Given the description of an element on the screen output the (x, y) to click on. 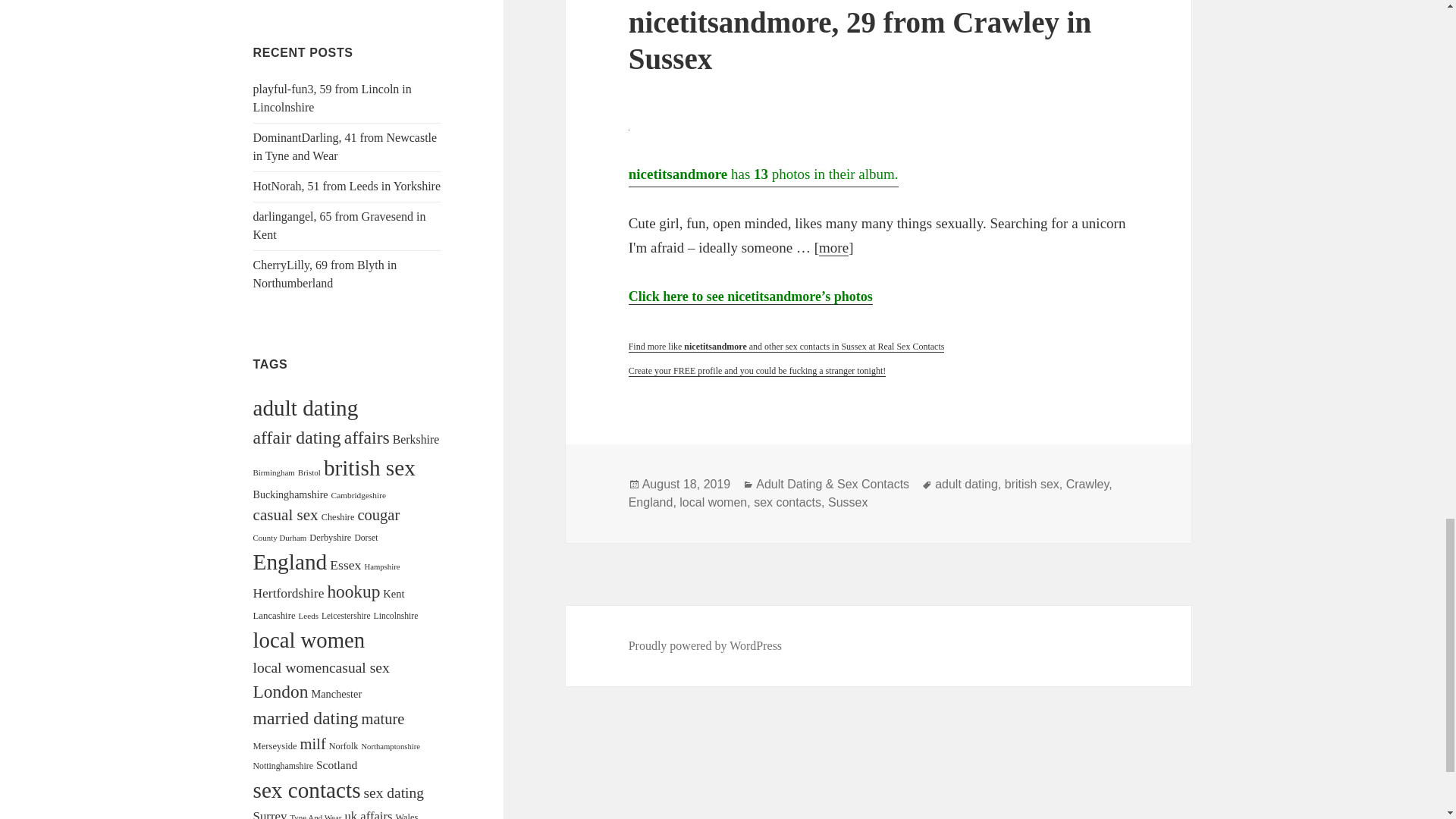
playful-fun3, 59 from Lincoln in Lincolnshire (332, 97)
